Given the description of an element on the screen output the (x, y) to click on. 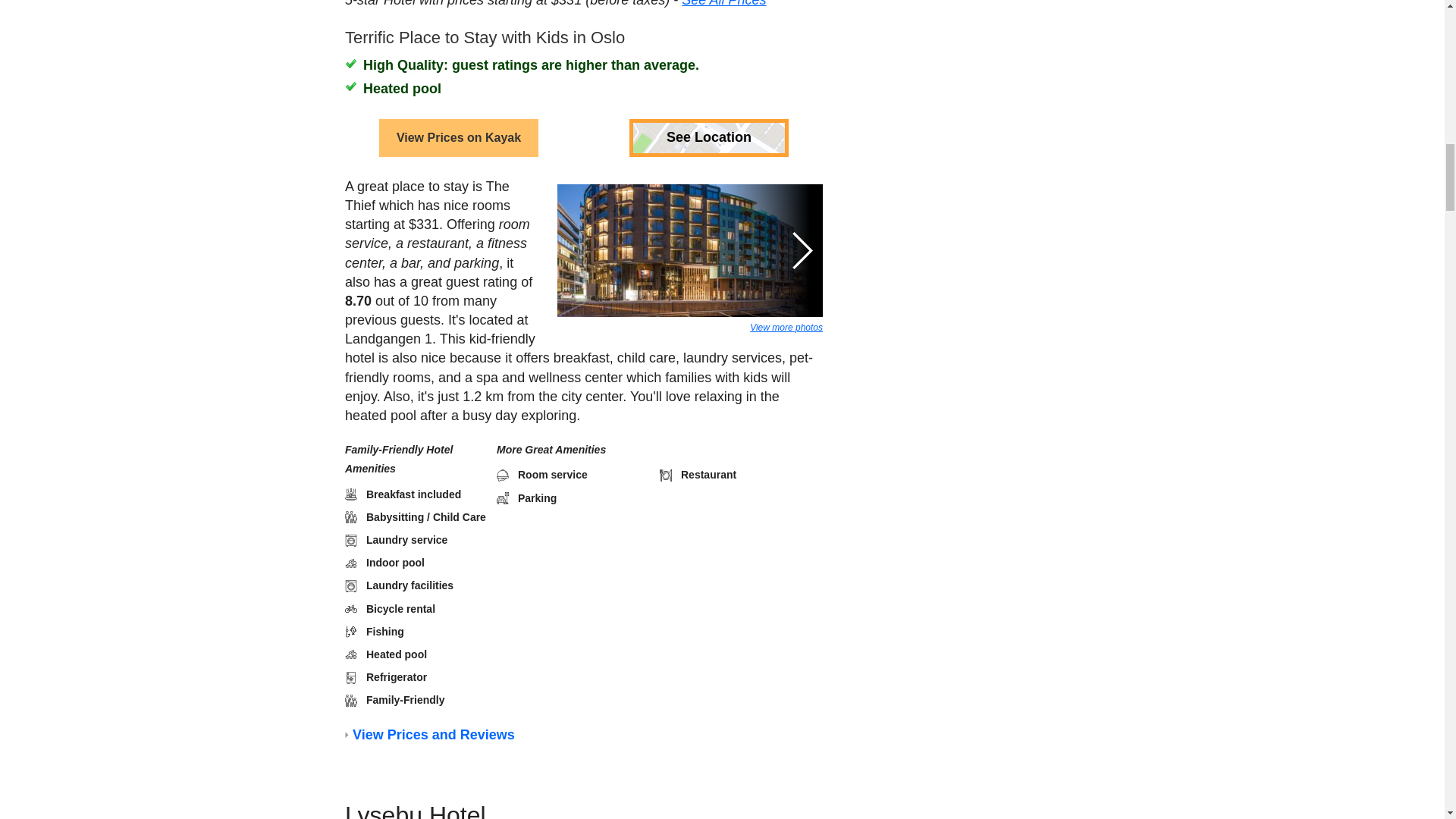
See Location (708, 91)
Lysebu Hotel (413, 806)
View Prices and Reviews (432, 726)
View more photos (785, 281)
View Prices on Kayak (458, 91)
